Given the description of an element on the screen output the (x, y) to click on. 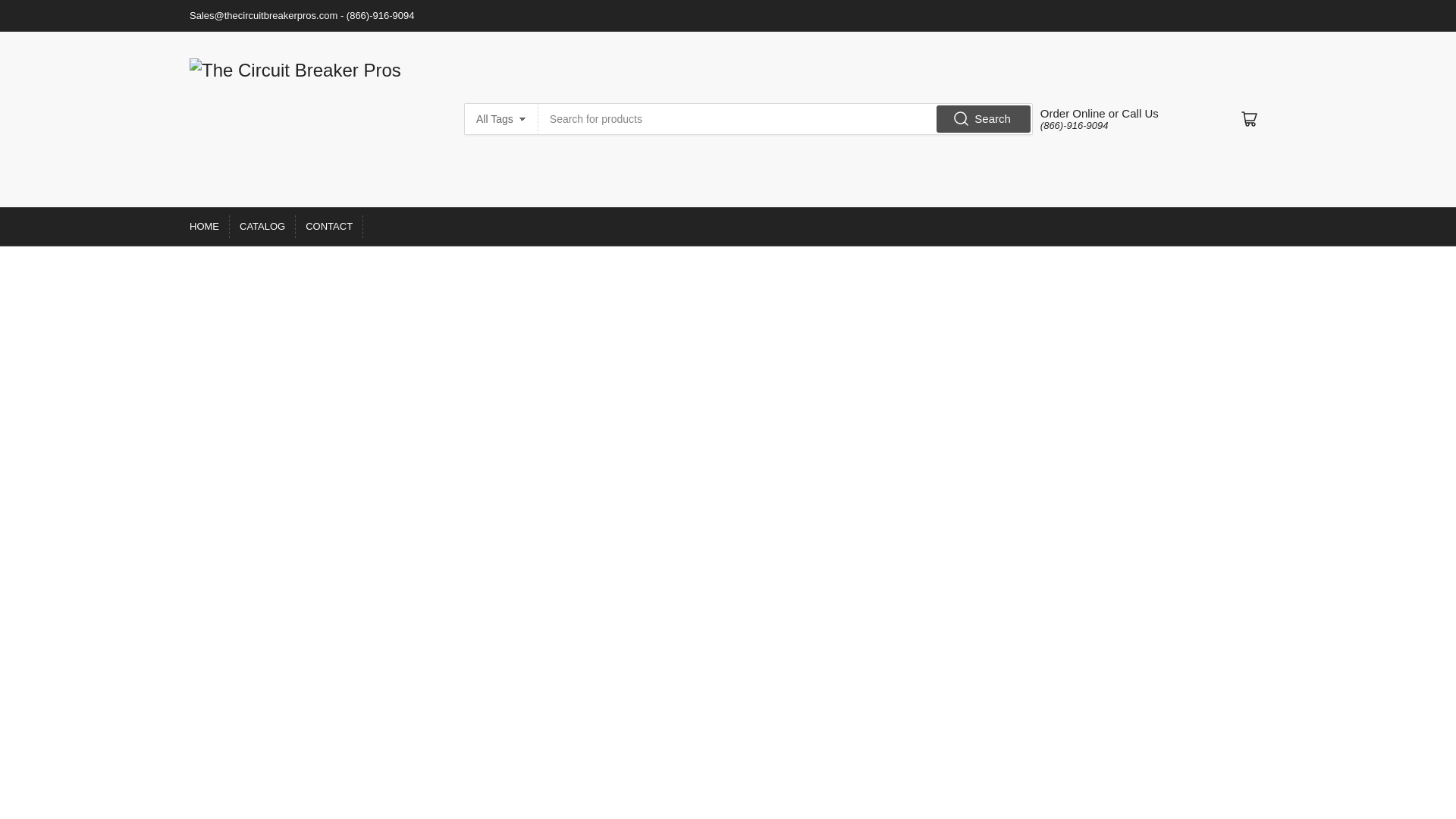
tel:8669169094 (1074, 125)
CATALOG (262, 226)
Search (983, 118)
CONTACT (328, 226)
Open mini cart (1249, 118)
